Given the description of an element on the screen output the (x, y) to click on. 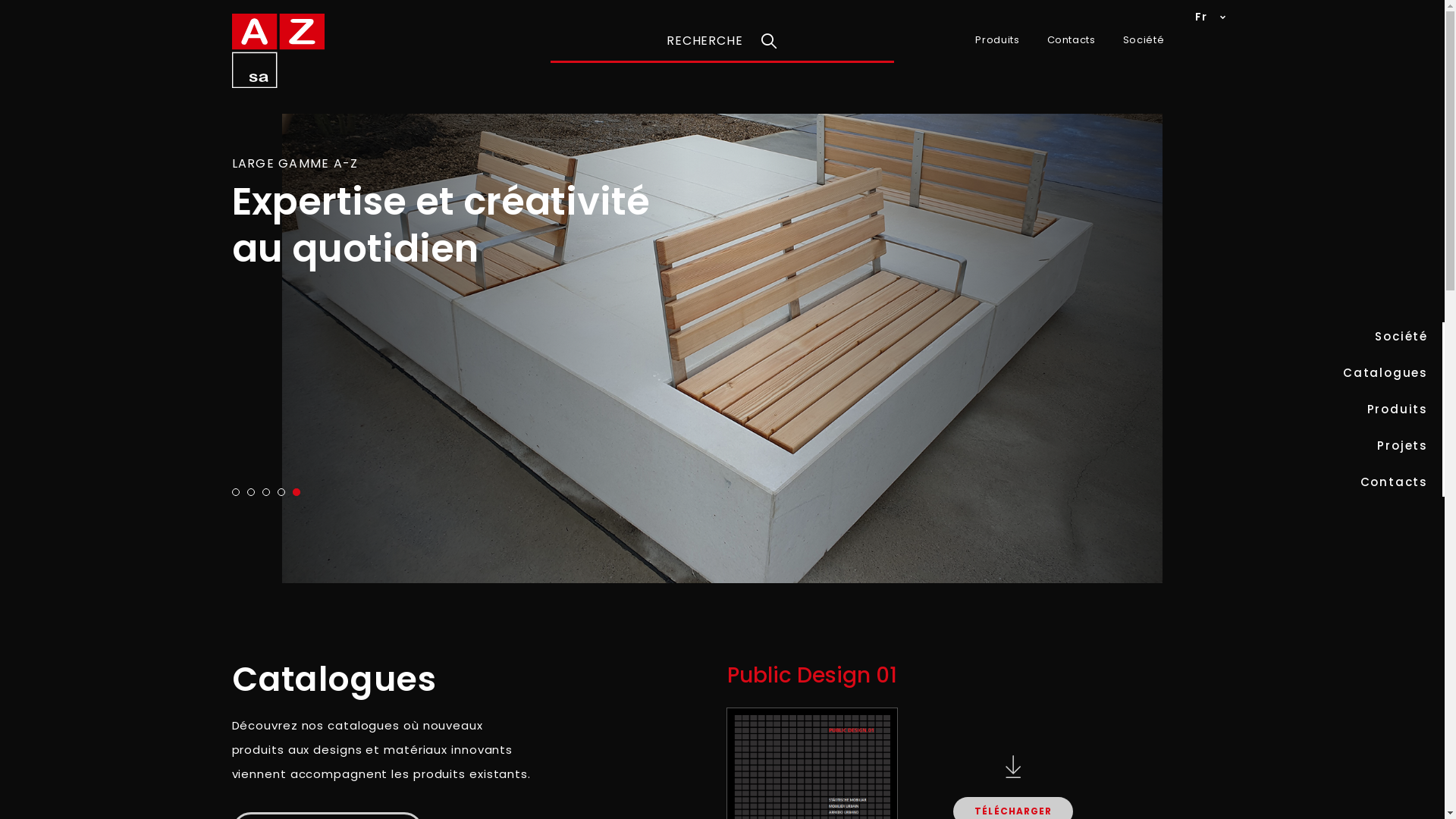
Fr Element type: text (1200, 16)
Contacts Element type: text (1071, 39)
Contacts Element type: text (1394, 481)
Produits Element type: text (996, 39)
Produits Element type: text (1397, 409)
Catalogues Element type: text (1385, 372)
Projets Element type: text (1402, 445)
